Given the description of an element on the screen output the (x, y) to click on. 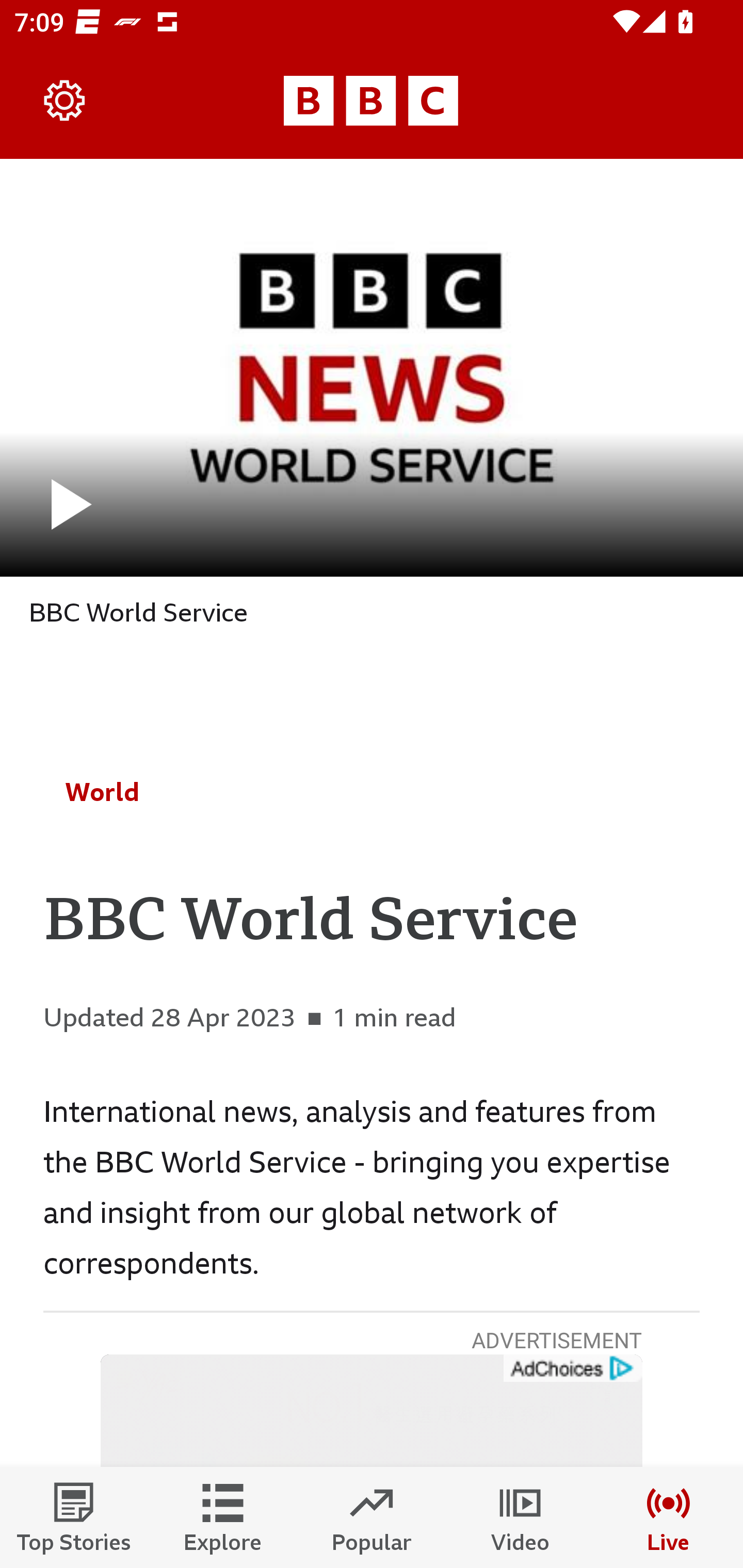
Settings (64, 100)
play fullscreen (371, 367)
World (102, 791)
Video Player get?name=admarker-full-tl   (371, 1410)
get?name=admarker-full-tl (571, 1368)
Top Stories (74, 1517)
Explore (222, 1517)
Popular (371, 1517)
Video (519, 1517)
